Given the description of an element on the screen output the (x, y) to click on. 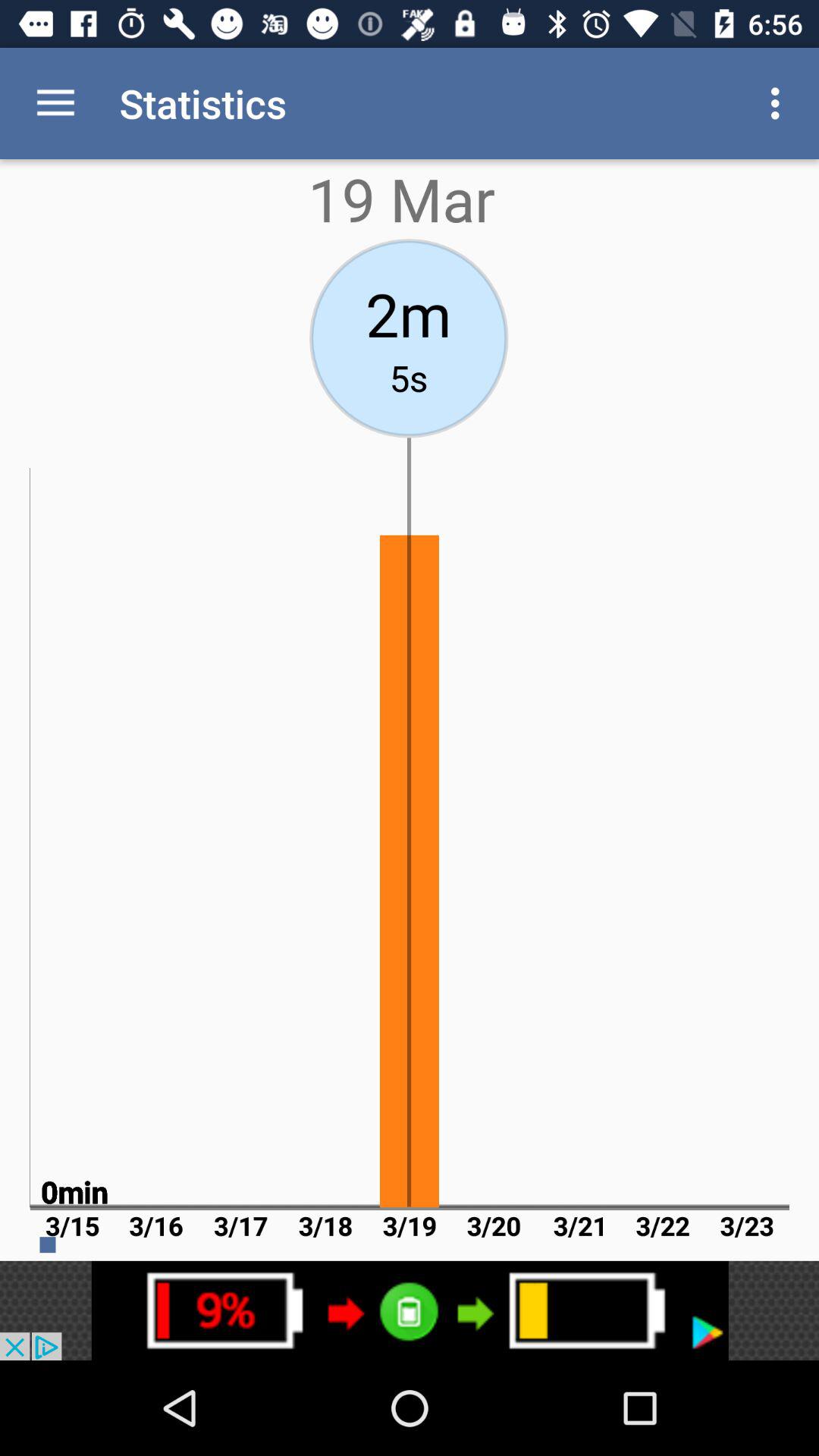
click on advertisements (409, 1310)
